Given the description of an element on the screen output the (x, y) to click on. 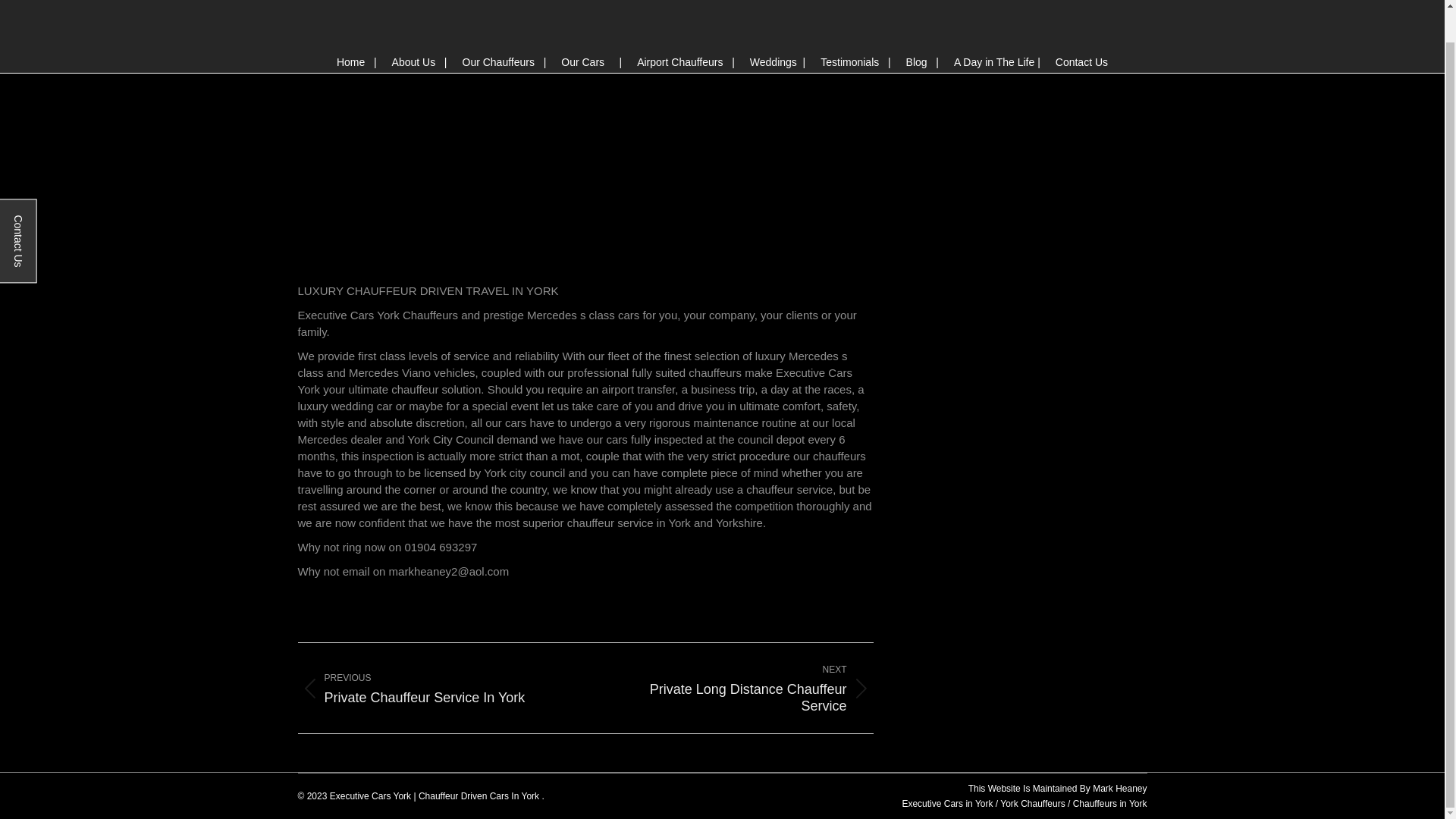
Contact Us (429, 687)
Contact Us For a Professional Fully licensed Chauffeur (1081, 61)
Contact Us (740, 687)
